Given the description of an element on the screen output the (x, y) to click on. 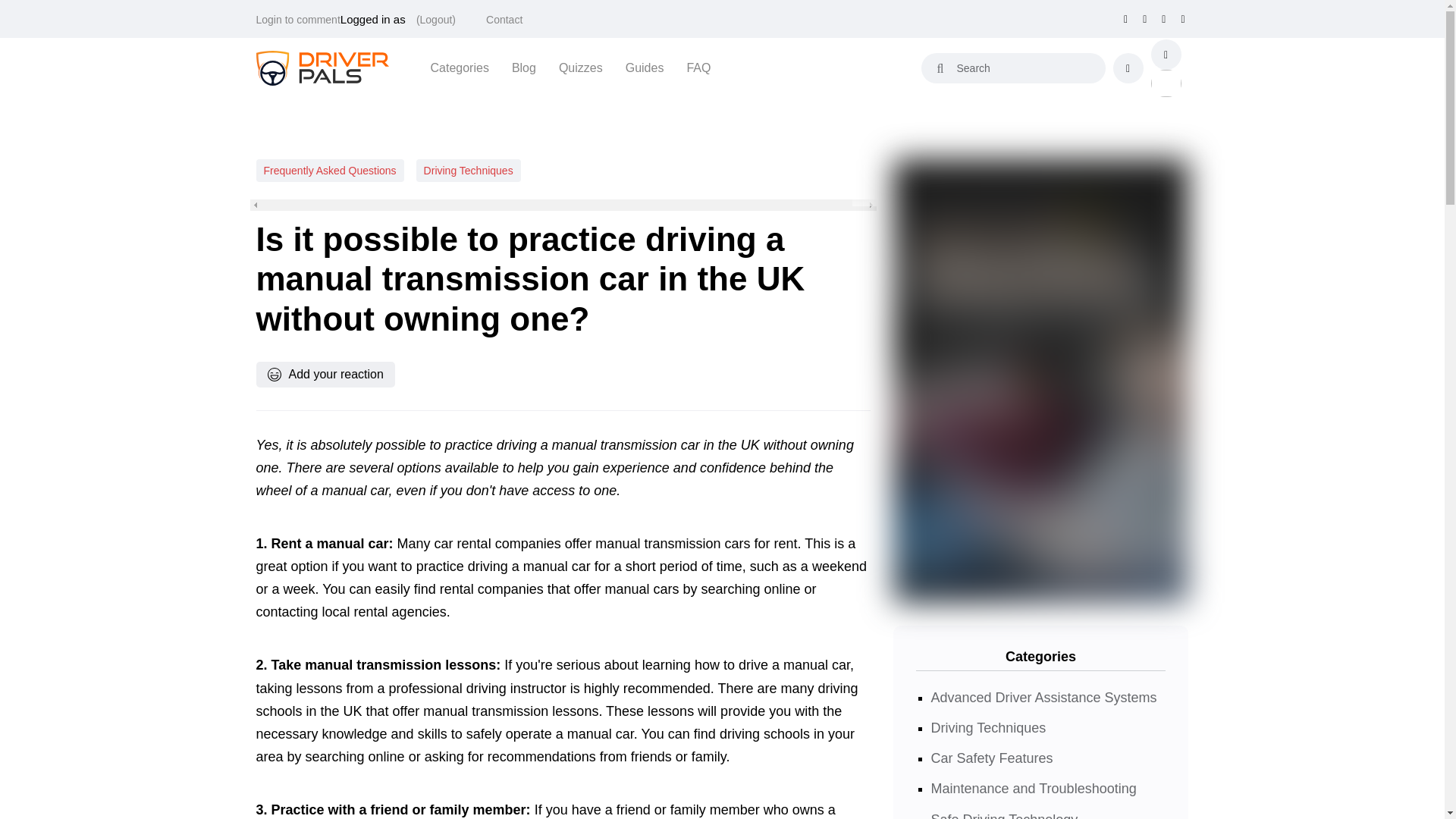
Categories (459, 67)
Login to comment (298, 19)
Contact (504, 19)
